Given the description of an element on the screen output the (x, y) to click on. 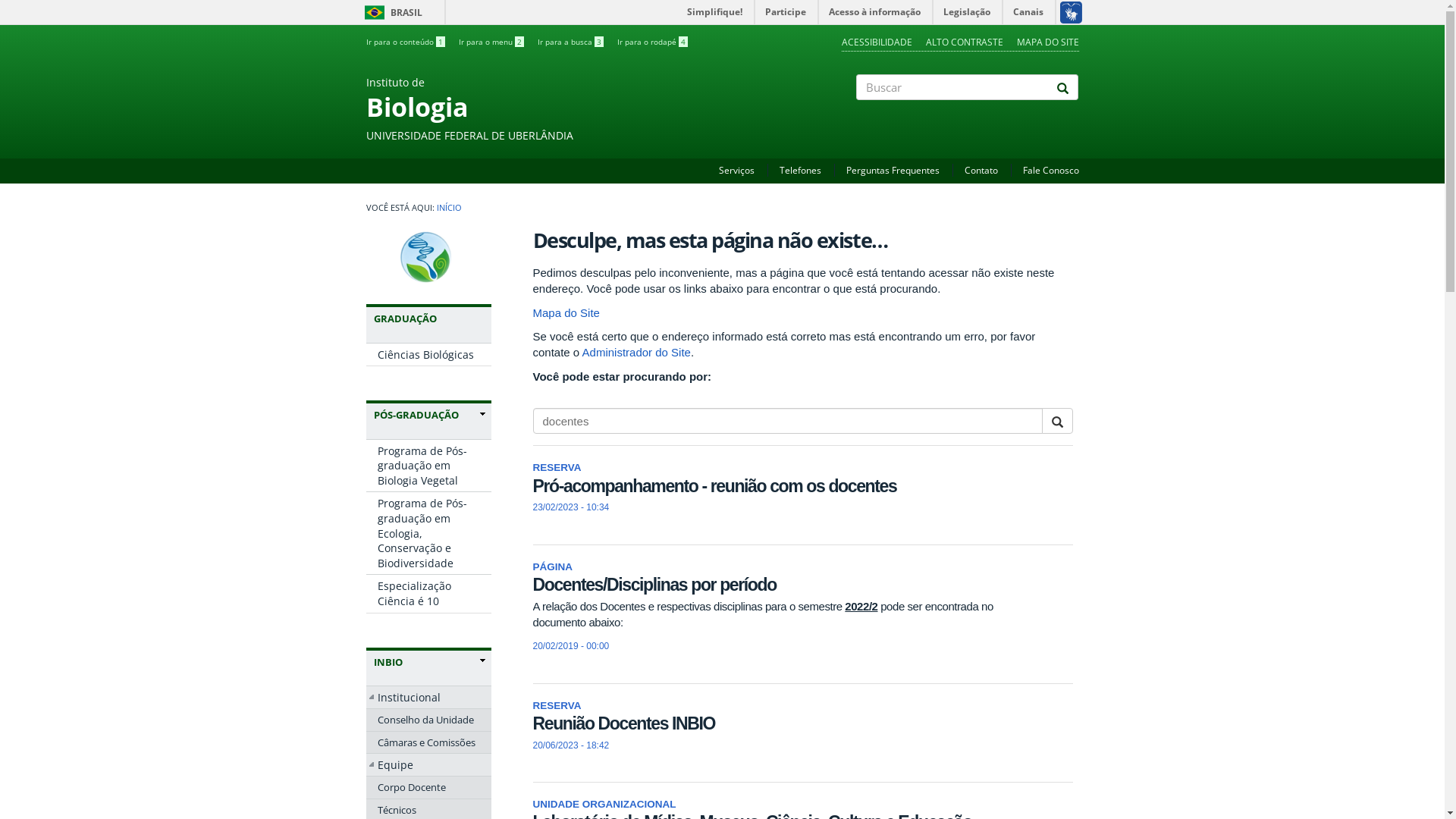
Perguntas Frequentes Element type: text (892, 169)
BRASIL Element type: text (373, 12)
MAPA DO SITE Element type: text (1047, 41)
Mapa do Site Element type: text (565, 312)
Buscar Element type: text (856, 112)
Equipe Element type: text (427, 764)
Telefones Element type: text (800, 169)
ALTO CONTRASTE Element type: text (963, 41)
Ir para o menu 2 Element type: text (490, 41)
Logotipo do INBIO Element type: hover (428, 258)
Institucional Element type: text (427, 697)
ACESSIBILIDADE Element type: text (876, 41)
Conselho da Unidade Element type: text (427, 719)
Administrador do Site Element type: text (636, 351)
Ir para a busca 3 Element type: text (569, 41)
Buscar Element type: text (532, 446)
Fale Conosco Element type: text (1050, 169)
Corpo Docente Element type: text (427, 786)
INBIO Element type: text (428, 661)
Contato Element type: text (980, 169)
